Given the description of an element on the screen output the (x, y) to click on. 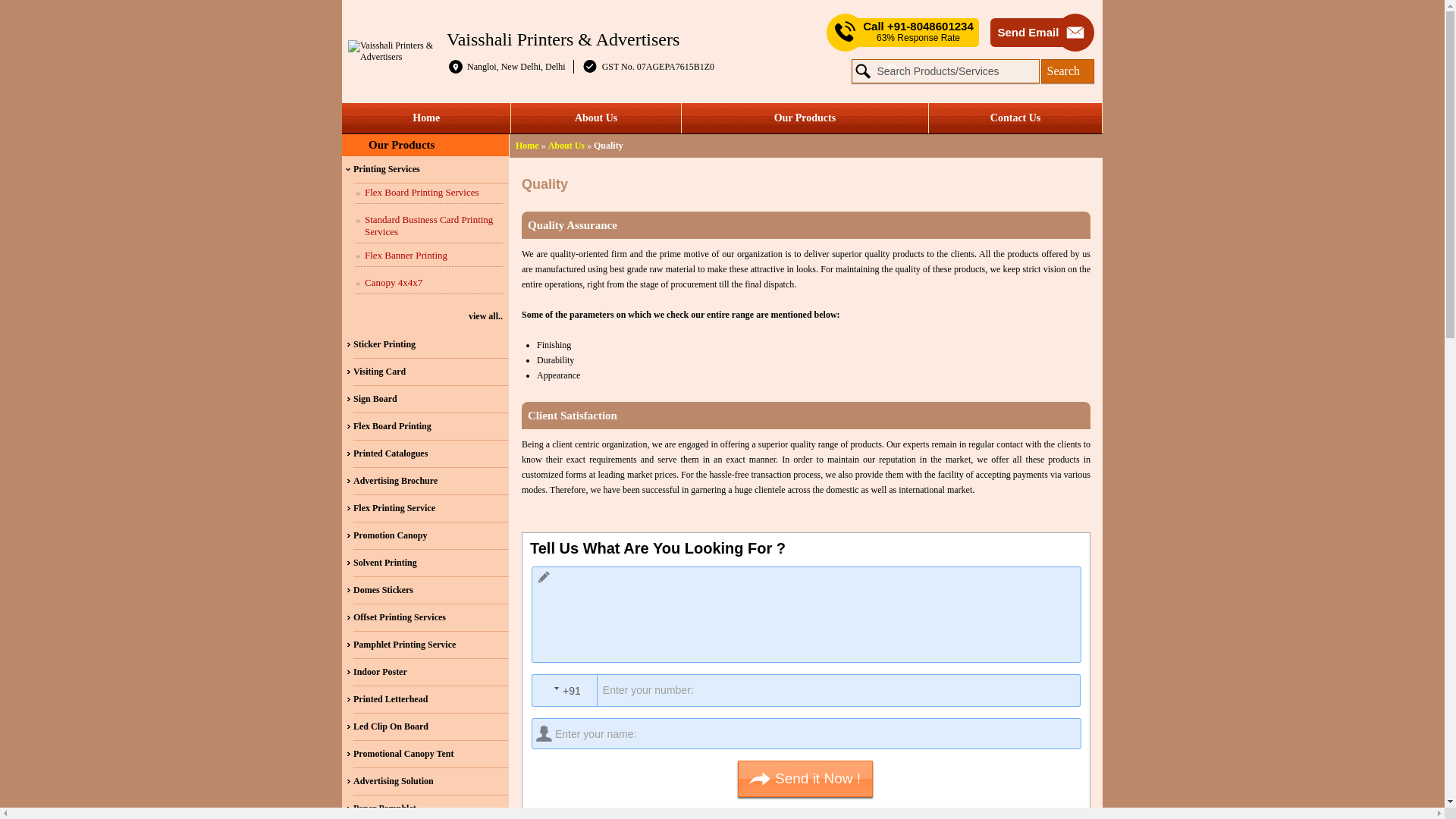
Sticker Printing (430, 344)
Printing Services (430, 169)
Send SMS Free (917, 32)
Send it Now ! (805, 778)
About Us (595, 118)
view all.. (422, 316)
Visiting Card (430, 371)
Contact Us (1015, 118)
Sign Board (430, 399)
Our Products (804, 118)
Send it Now ! (805, 778)
Flex Board Printing Services (428, 193)
Flex Banner Printing (428, 256)
Standard Business Card Printing Services (428, 226)
Enter your number: (810, 690)
